Given the description of an element on the screen output the (x, y) to click on. 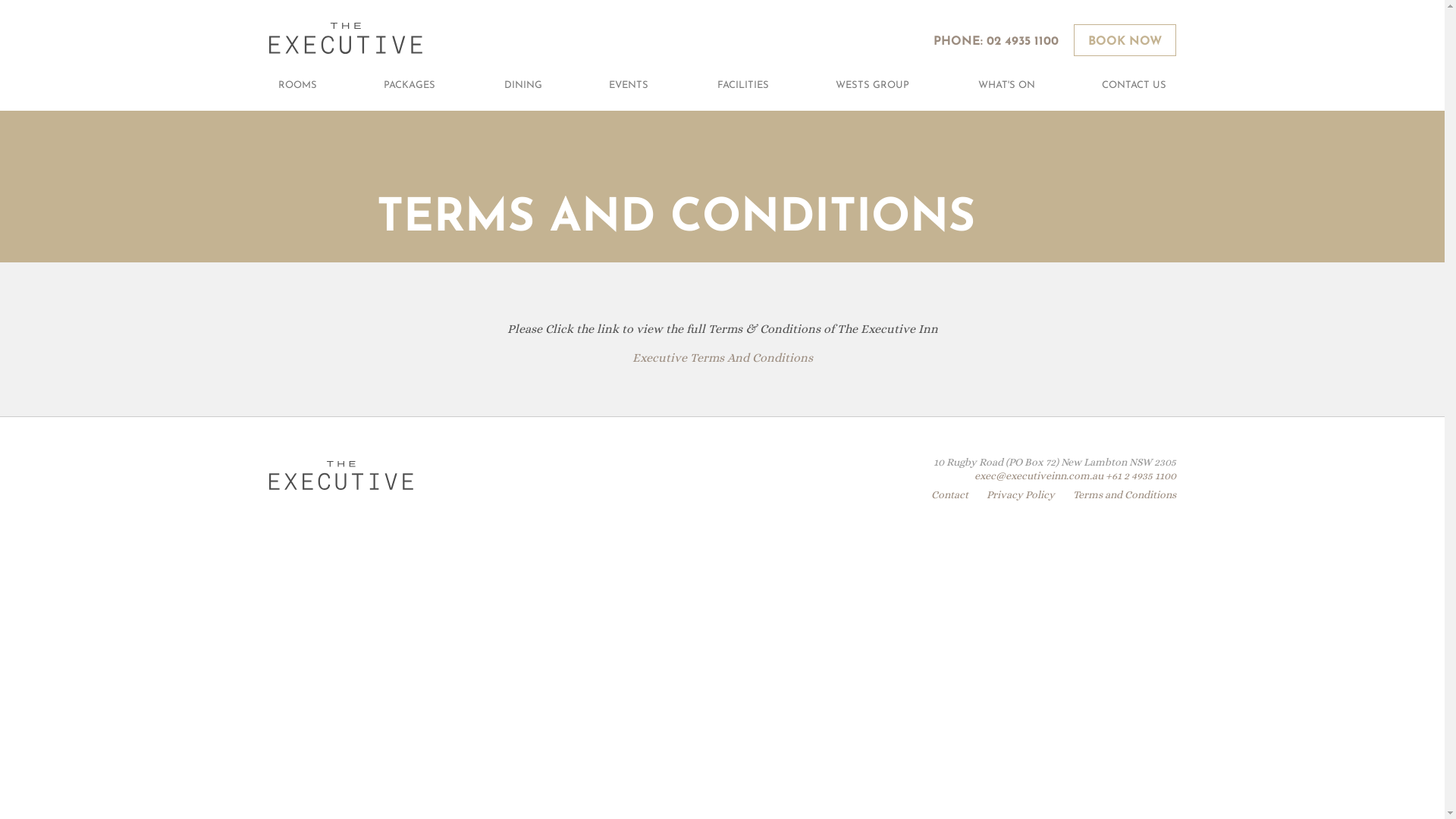
DINING Element type: text (522, 83)
Privacy Policy Element type: text (1019, 493)
PACKAGES Element type: text (409, 83)
exec@executiveinn.com.au Element type: text (1037, 474)
CONTACT US Element type: text (1133, 83)
PHONE: 02 4935 1100 Element type: text (994, 41)
EVENTS Element type: text (628, 83)
Terms and Conditions Element type: text (1123, 493)
WESTS GROUP Element type: text (872, 83)
WHAT'S ON Element type: text (1005, 83)
BOOK NOW Element type: text (1124, 40)
Executive Terms And Conditions Element type: text (722, 357)
ROOMS Element type: text (295, 83)
FACILITIES Element type: text (742, 83)
+61 2 4935 1100 Element type: text (1140, 474)
Contact Element type: text (949, 493)
